Given the description of an element on the screen output the (x, y) to click on. 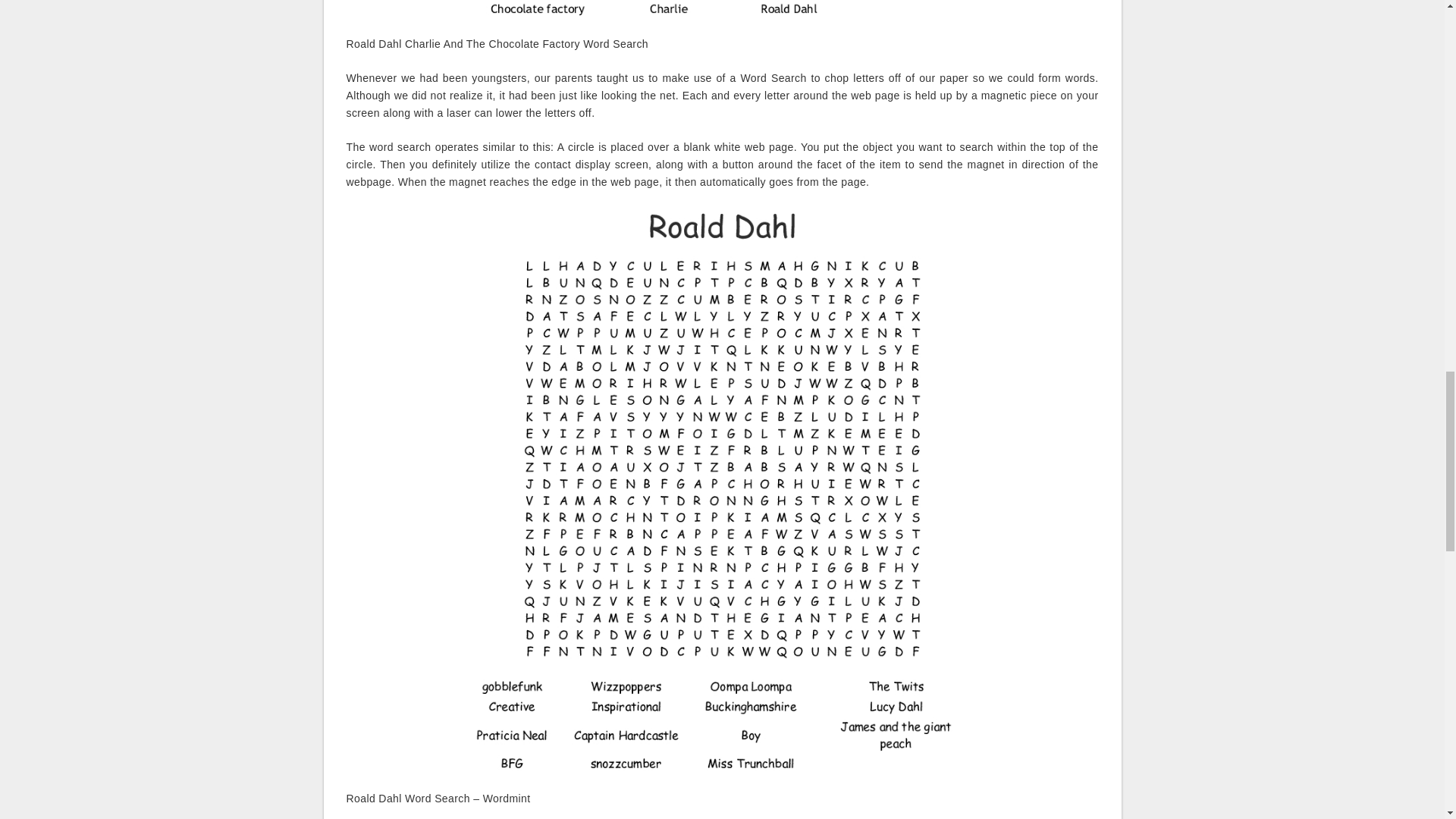
roald dahl charlie and the chocolate factory word search 4 (721, 9)
